Given the description of an element on the screen output the (x, y) to click on. 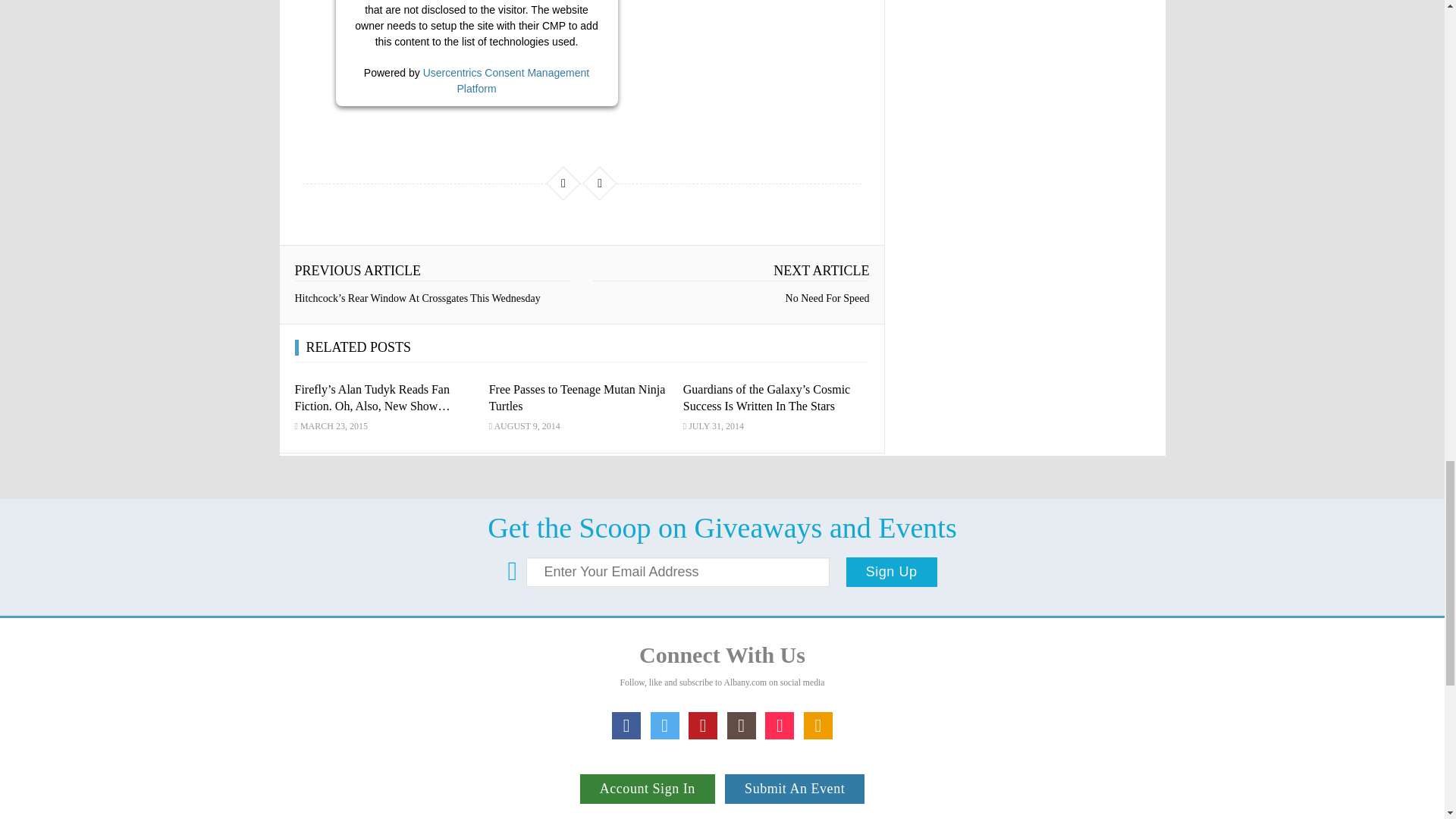
Free Passes to Teenage Mutan Ninja Turtles (577, 396)
My Planner (817, 725)
Facebook (625, 725)
Pinterest (702, 725)
Share on Twitter (599, 183)
TikTok (779, 725)
Share on Facebook (563, 183)
Instagram (740, 725)
X (664, 725)
